Given the description of an element on the screen output the (x, y) to click on. 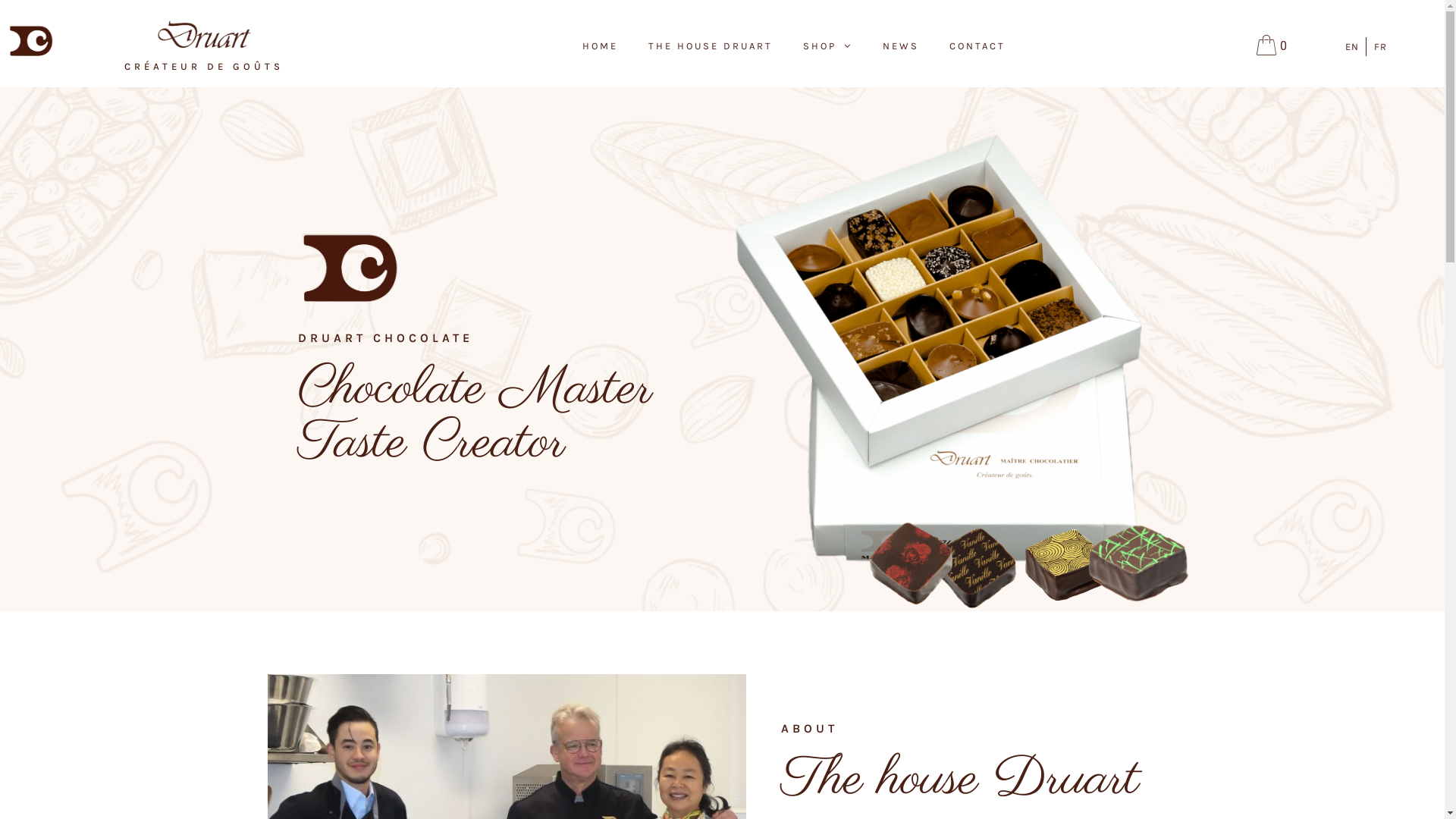
CONTACT Element type: text (977, 46)
SHOP Element type: text (827, 46)
EN Element type: text (1351, 46)
HOME Element type: text (599, 46)
FR Element type: text (1380, 46)
NEWS Element type: text (900, 46)
THE HOUSE DRUART Element type: text (710, 46)
0 Element type: text (1271, 45)
